Given the description of an element on the screen output the (x, y) to click on. 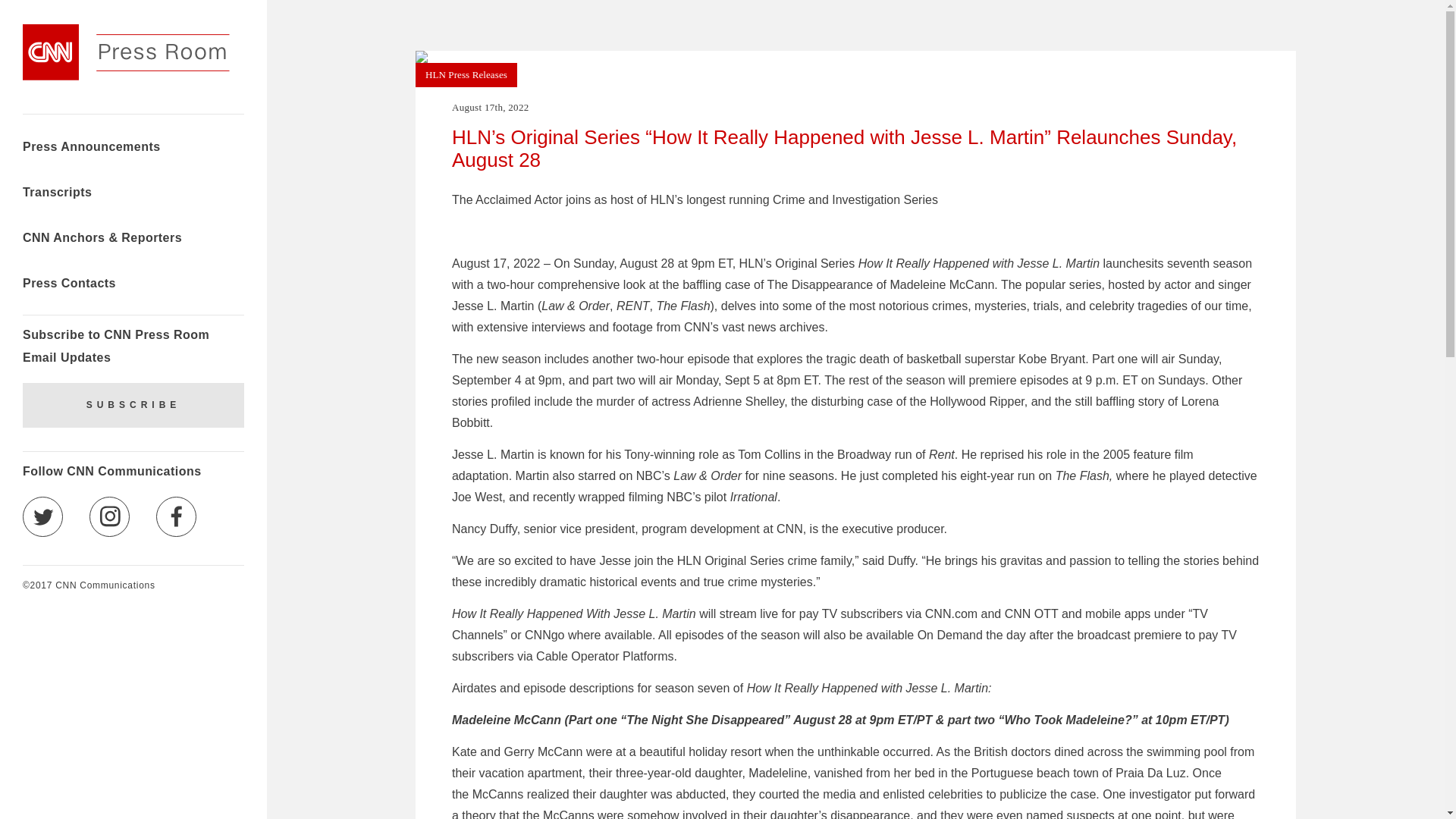
Transcripts (57, 194)
Press Contacts (69, 285)
Press Announcements (91, 149)
